Given the description of an element on the screen output the (x, y) to click on. 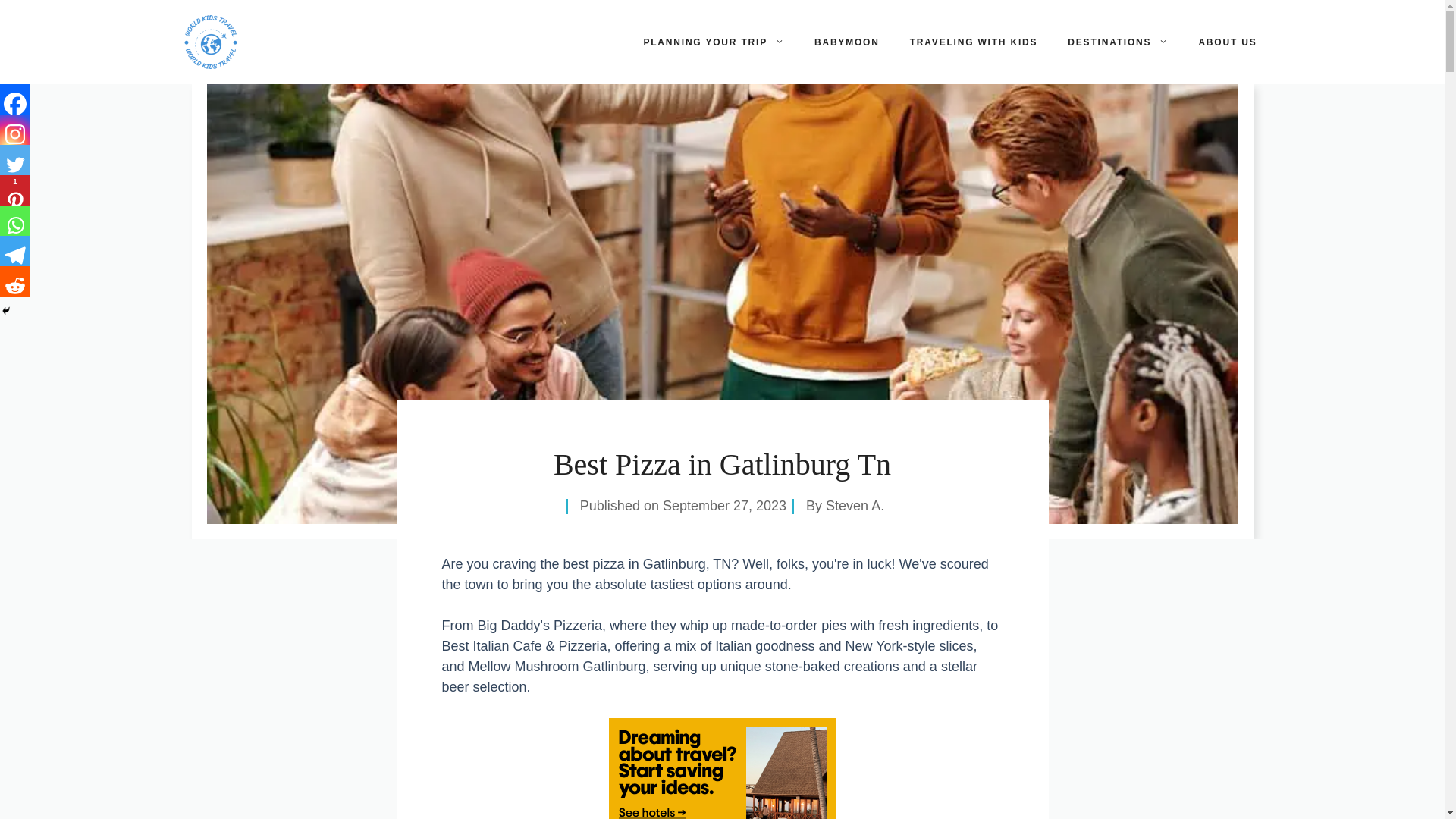
Reddit (15, 281)
ABOUT US (1226, 42)
Facebook (15, 99)
Whatsapp (15, 220)
TRAVELING WITH KIDS (973, 42)
1 (15, 190)
Telegram (15, 250)
Twitter (15, 159)
PLANNING YOUR TRIP (713, 42)
Pinterest (15, 190)
Instagram (15, 129)
BABYMOON (847, 42)
Hide (5, 310)
Steven A. (854, 505)
DESTINATIONS (1117, 42)
